Given the description of an element on the screen output the (x, y) to click on. 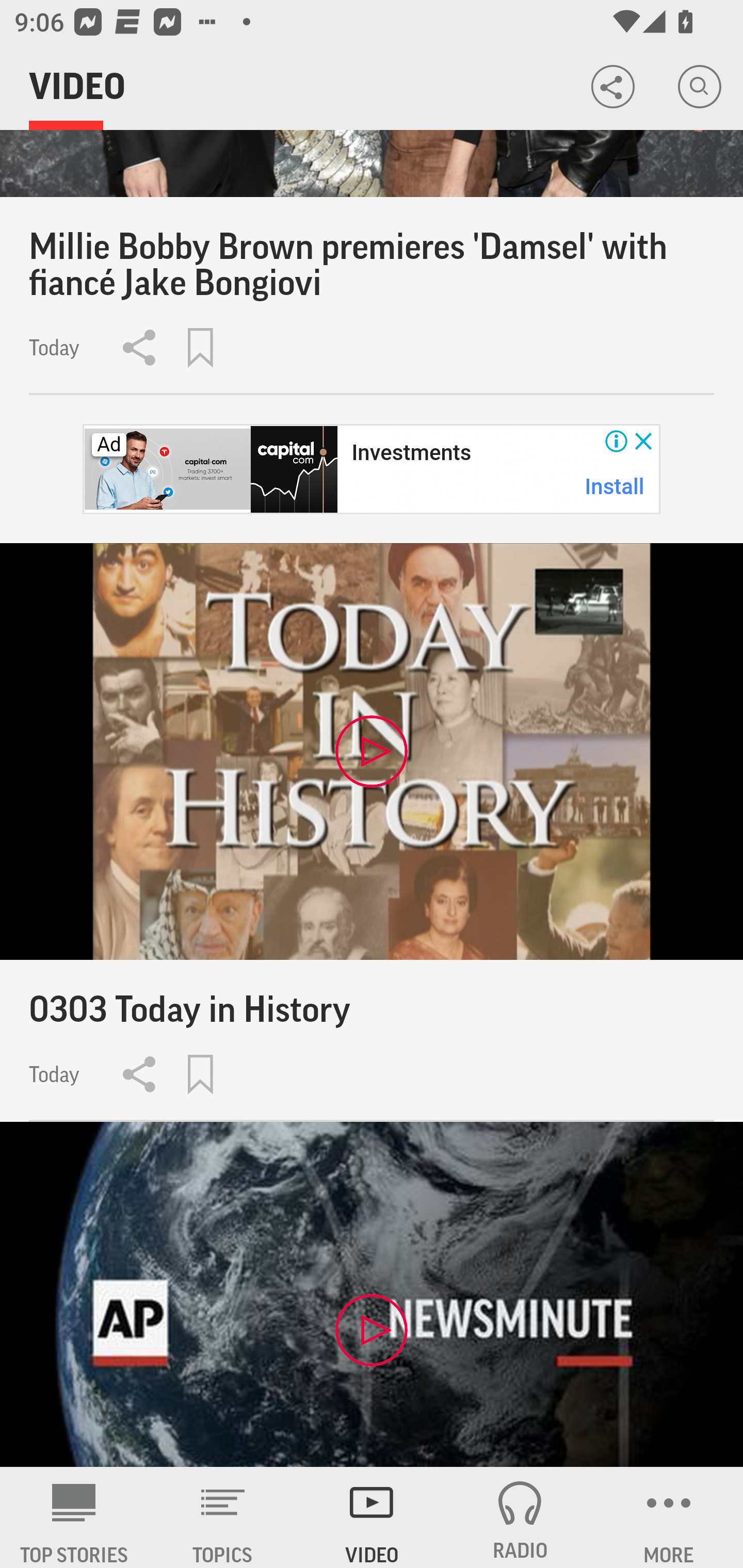
Investments (410, 453)
Install (614, 487)
0303 Today in History Today (371, 831)
AP News TOP STORIES (74, 1517)
TOPICS (222, 1517)
VIDEO (371, 1517)
RADIO (519, 1517)
MORE (668, 1517)
